Given the description of an element on the screen output the (x, y) to click on. 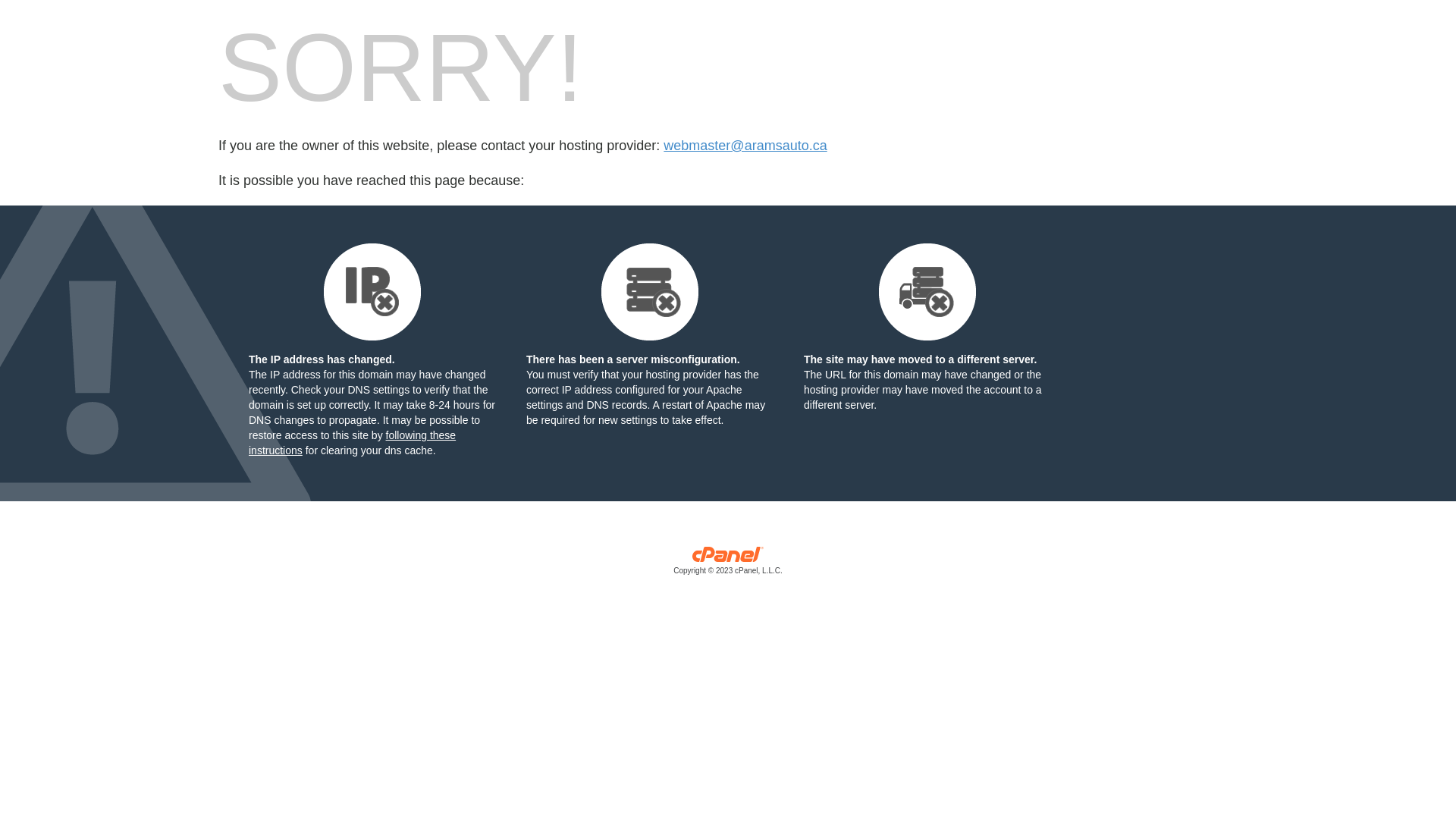
webmaster@aramsauto.ca Element type: text (744, 145)
following these instructions Element type: text (351, 442)
